Given the description of an element on the screen output the (x, y) to click on. 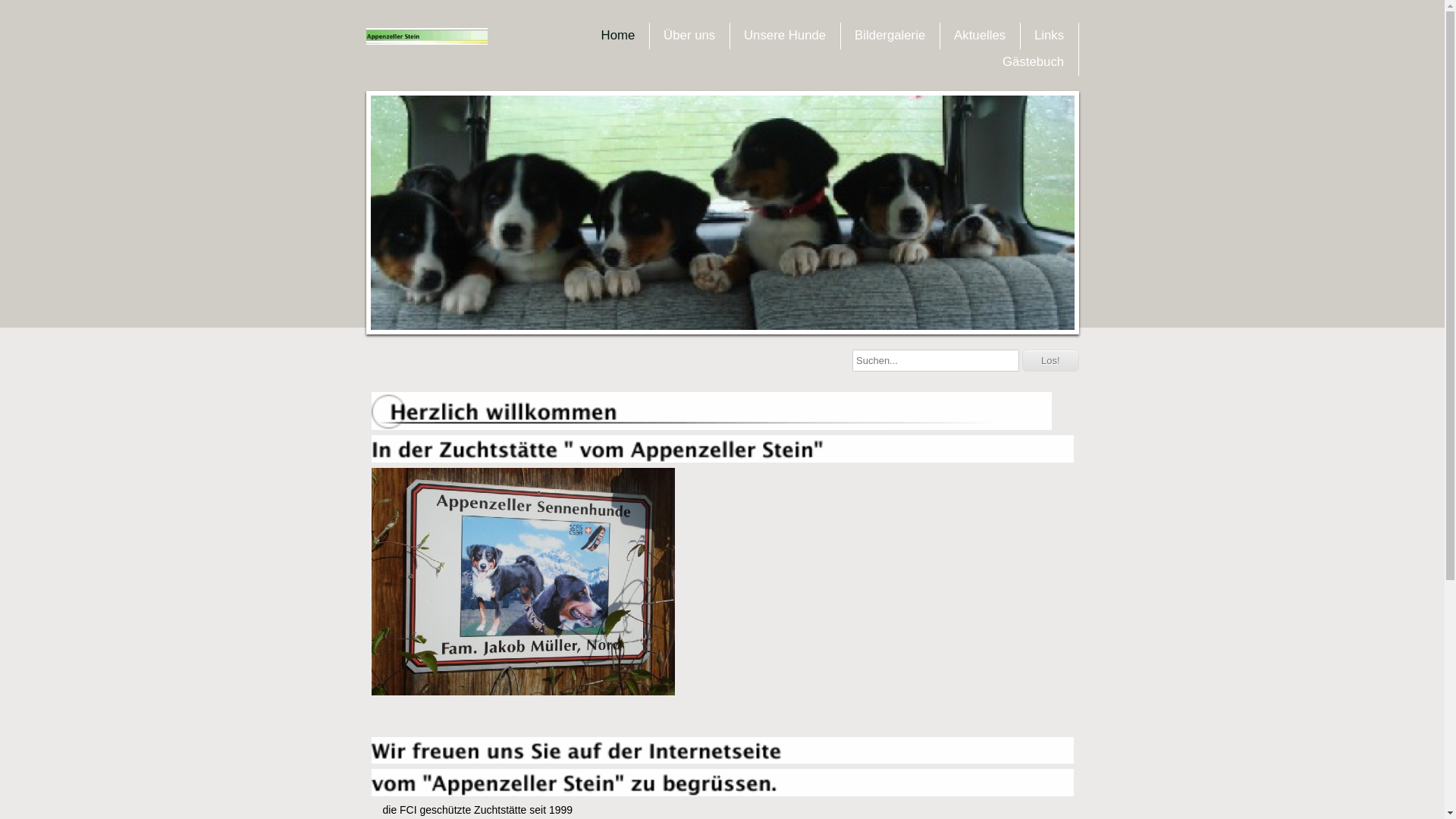
Bildergalerie Element type: text (889, 35)
Los! Element type: text (1050, 360)
Links Element type: text (1048, 35)
Unsere Hunde Element type: text (784, 35)
Home Element type: text (618, 35)
Aktuelles Element type: text (979, 35)
